Given the description of an element on the screen output the (x, y) to click on. 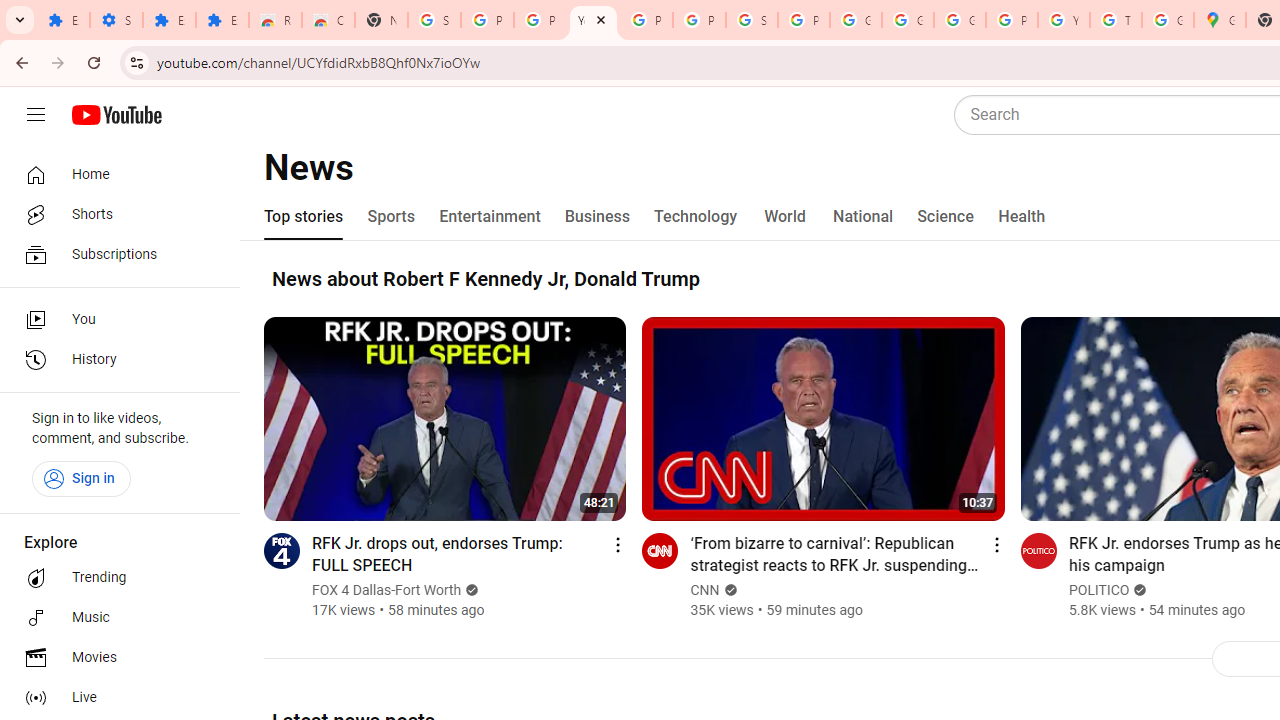
Sign in - Google Accounts (751, 20)
Science (945, 216)
CNN (704, 590)
History (113, 359)
Extensions (169, 20)
Guide (35, 115)
Reviews: Helix Fruit Jump Arcade Game (275, 20)
